Given the description of an element on the screen output the (x, y) to click on. 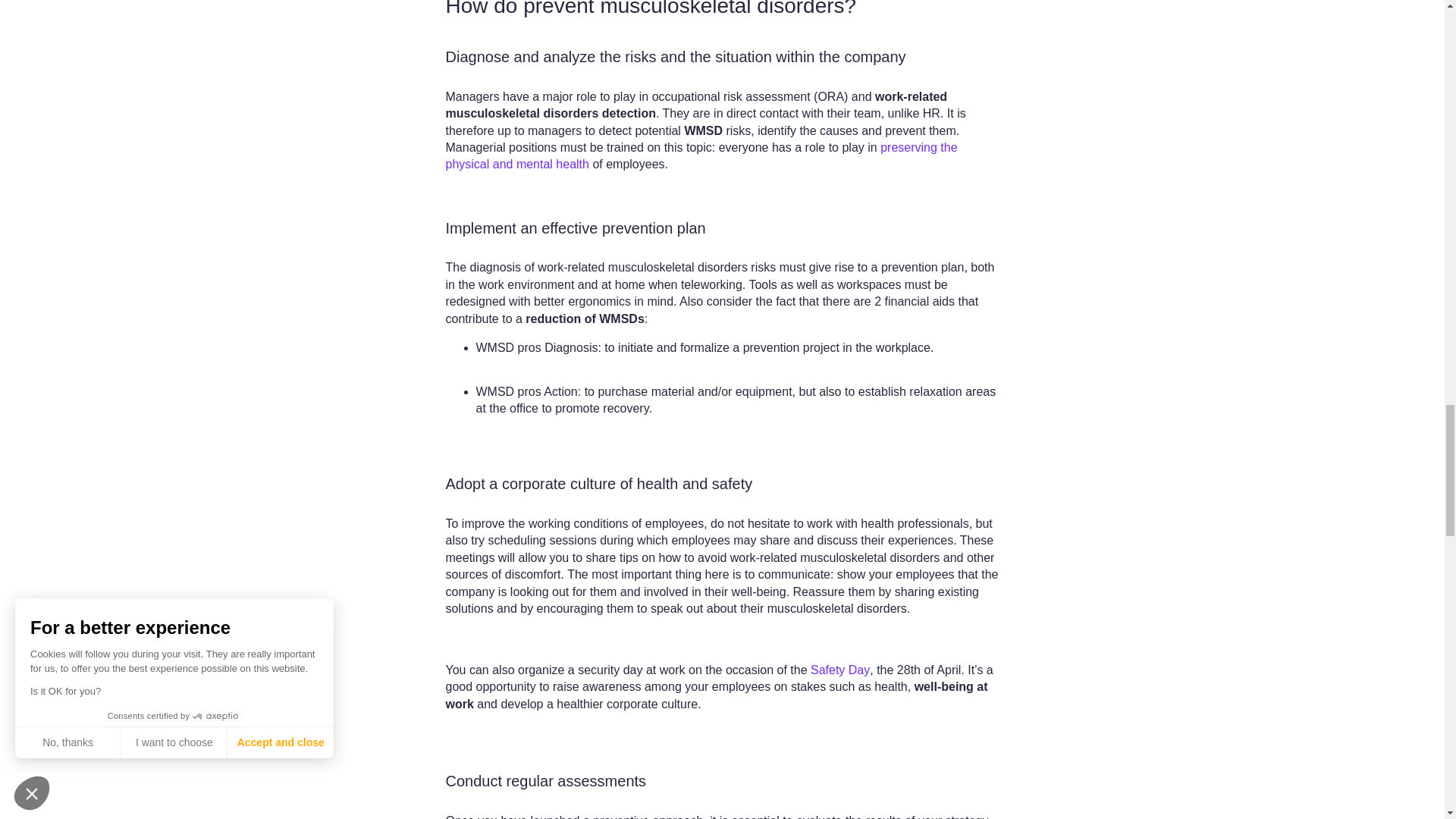
Safety Day (839, 669)
physical and mental health (517, 164)
preserving the (918, 147)
